Given the description of an element on the screen output the (x, y) to click on. 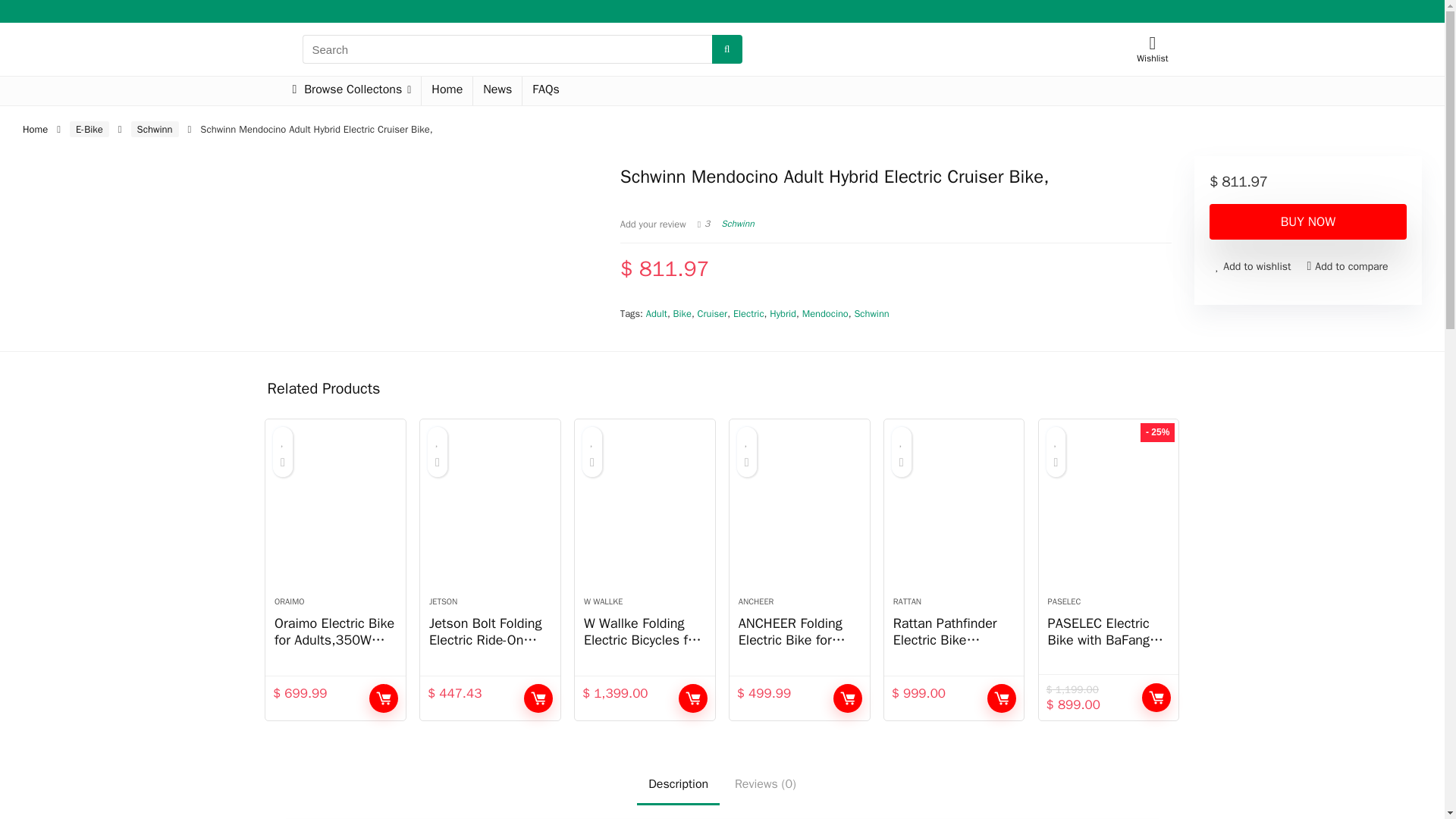
ANCHEER Folding Electric Bike for Adults, 500W Brushless (799, 515)
Jetson Bolt Folding Electric Ride-On Bike, Easy-Folding, (490, 515)
Cruiser (712, 313)
E-Bike (89, 129)
Home (35, 128)
Rattan Pathfinder Electric Bike Adults,48V 15AH Removable (953, 515)
Browse Collectons (351, 90)
Schwinn (155, 129)
Bike (681, 313)
Schwinn (737, 223)
